Given the description of an element on the screen output the (x, y) to click on. 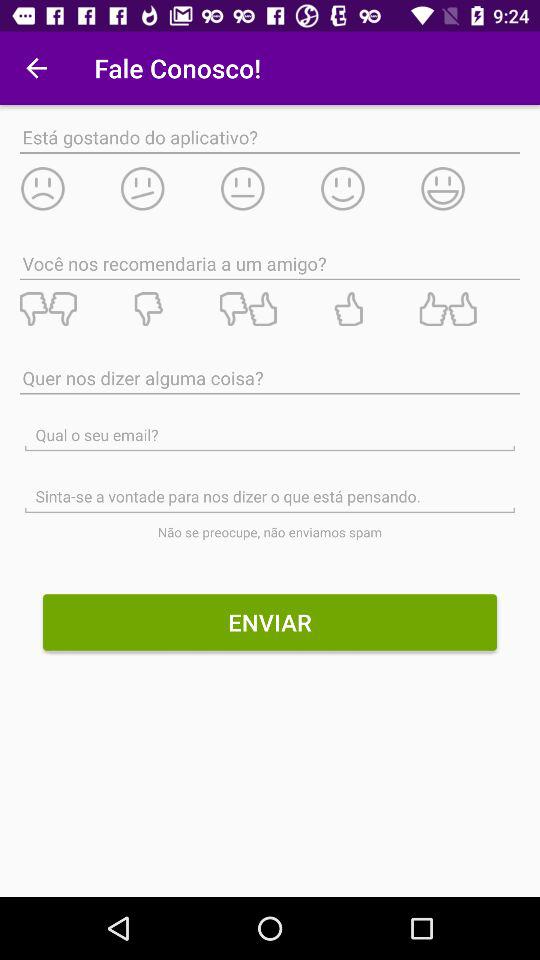
undecided (269, 188)
